Given the description of an element on the screen output the (x, y) to click on. 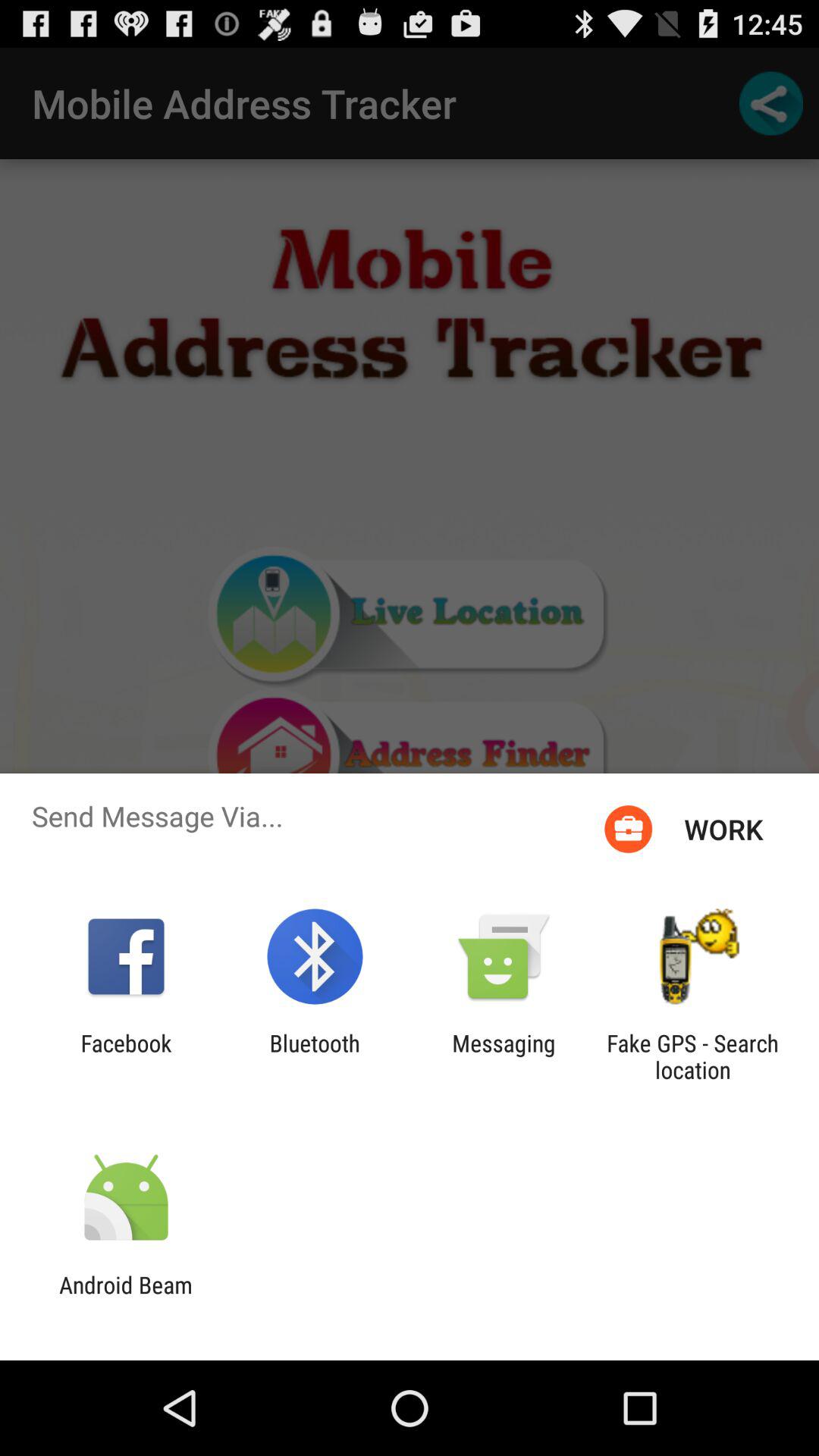
click the app at the bottom right corner (692, 1056)
